Given the description of an element on the screen output the (x, y) to click on. 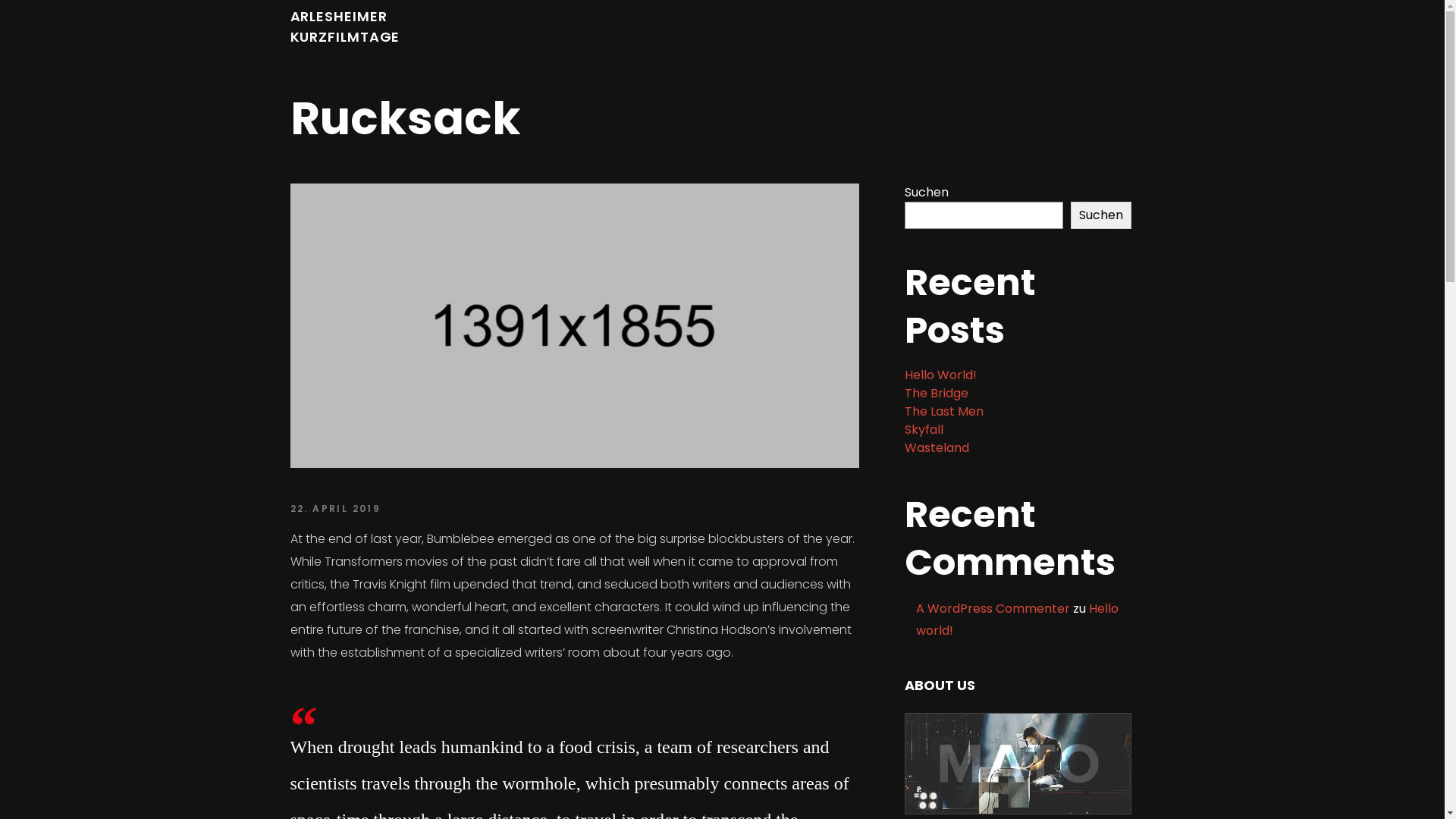
ARLESHEIMER KURZFILMTAGE Element type: text (344, 26)
Hello World! Element type: text (939, 374)
The Last Men Element type: text (942, 411)
Hello world! Element type: text (1017, 619)
Wasteland Element type: text (935, 447)
Skyfall Element type: text (922, 429)
The Bridge Element type: text (935, 392)
Suchen Element type: text (1100, 215)
A WordPress Commenter Element type: text (993, 608)
